Given the description of an element on the screen output the (x, y) to click on. 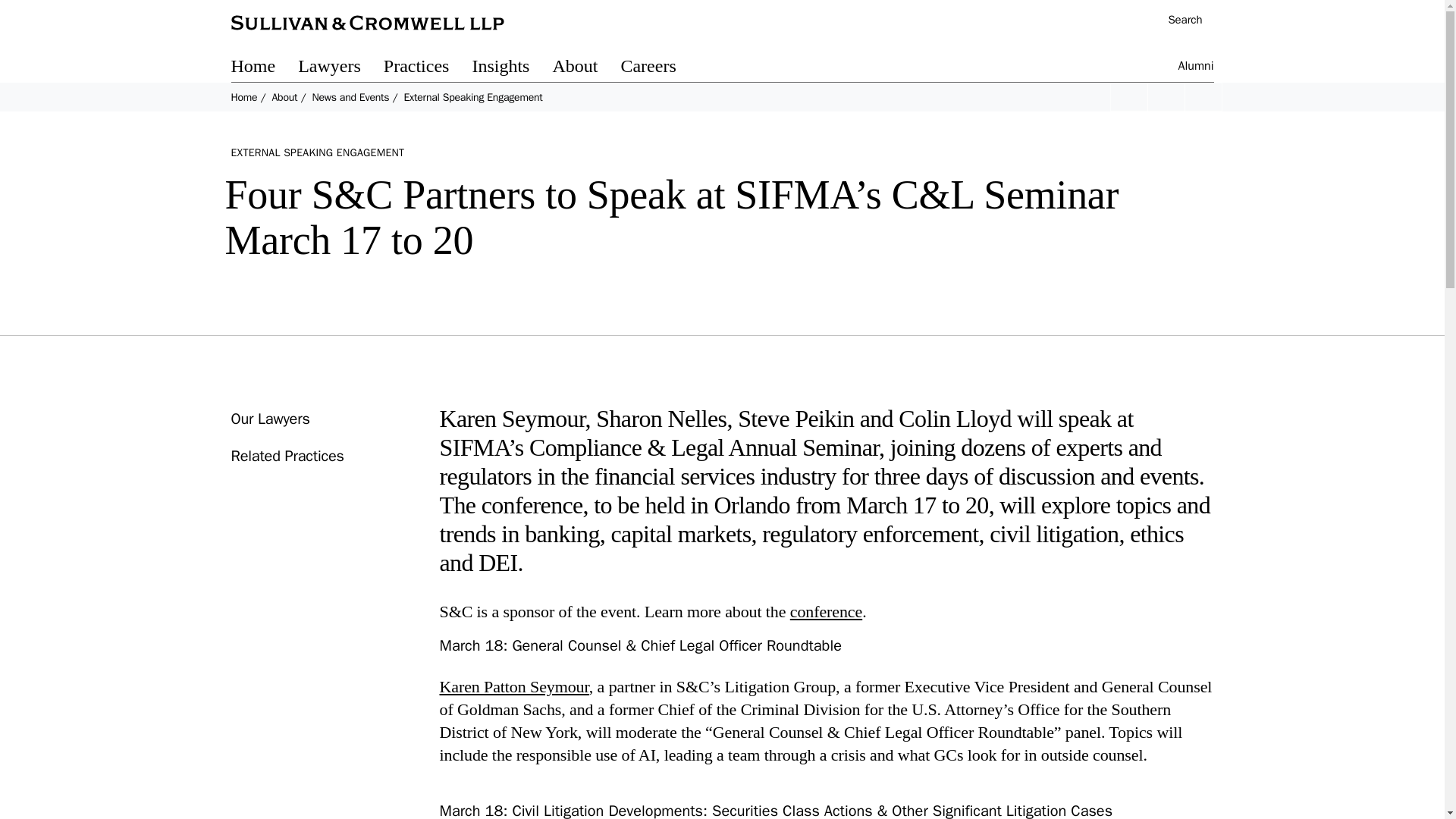
conference (825, 610)
About (283, 97)
Insights (511, 67)
Careers (659, 67)
Home (243, 97)
Karen Patton Seymour (514, 686)
Home (264, 67)
About (585, 67)
Search (1176, 20)
Our Lawyers (269, 418)
News and Events (349, 97)
Lawyers (341, 67)
Related Practices (286, 456)
Practices (427, 67)
Karen Patton Seymour (514, 686)
